Given the description of an element on the screen output the (x, y) to click on. 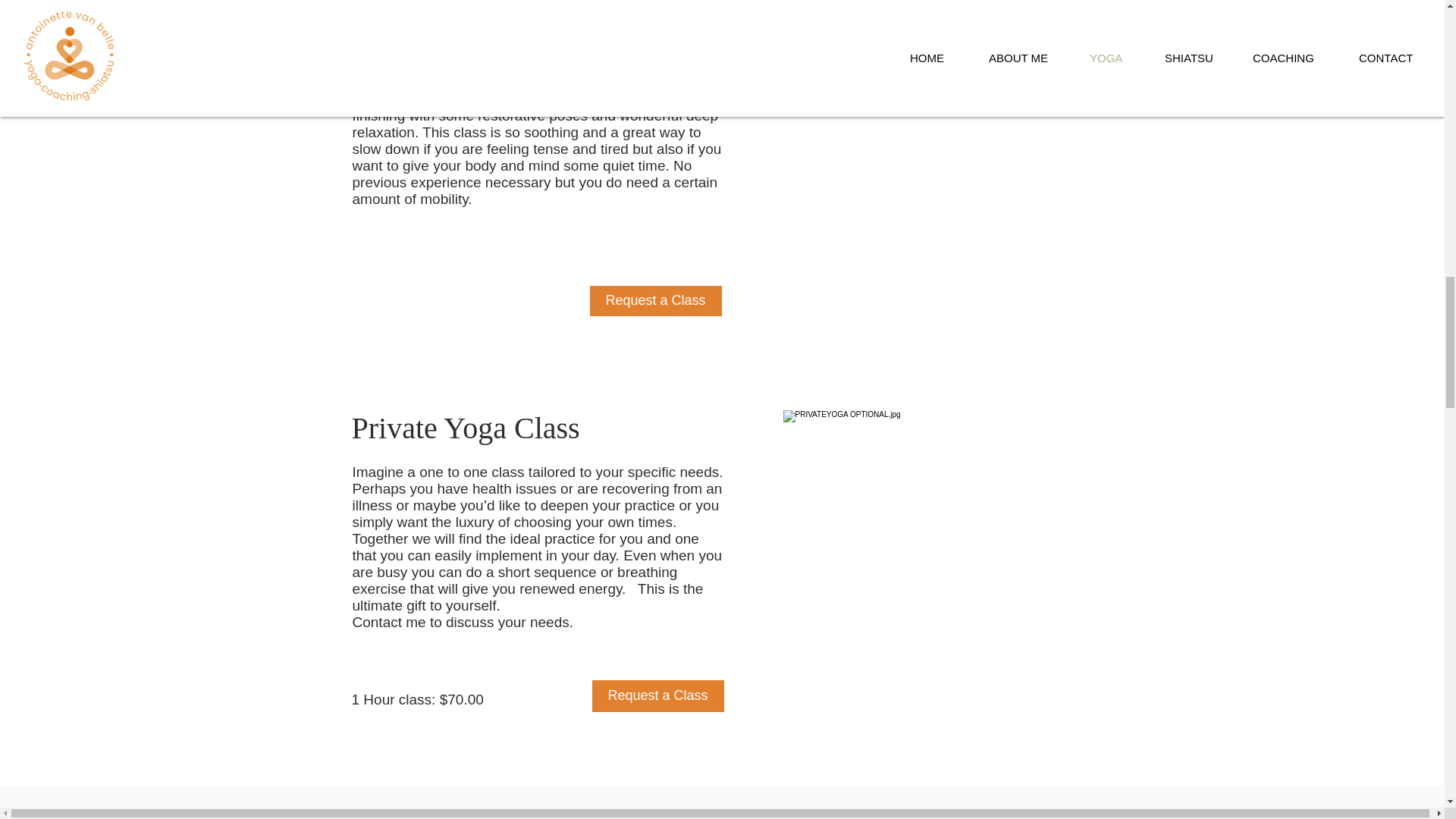
Request a Class (657, 695)
Request a Class (655, 300)
